Given the description of an element on the screen output the (x, y) to click on. 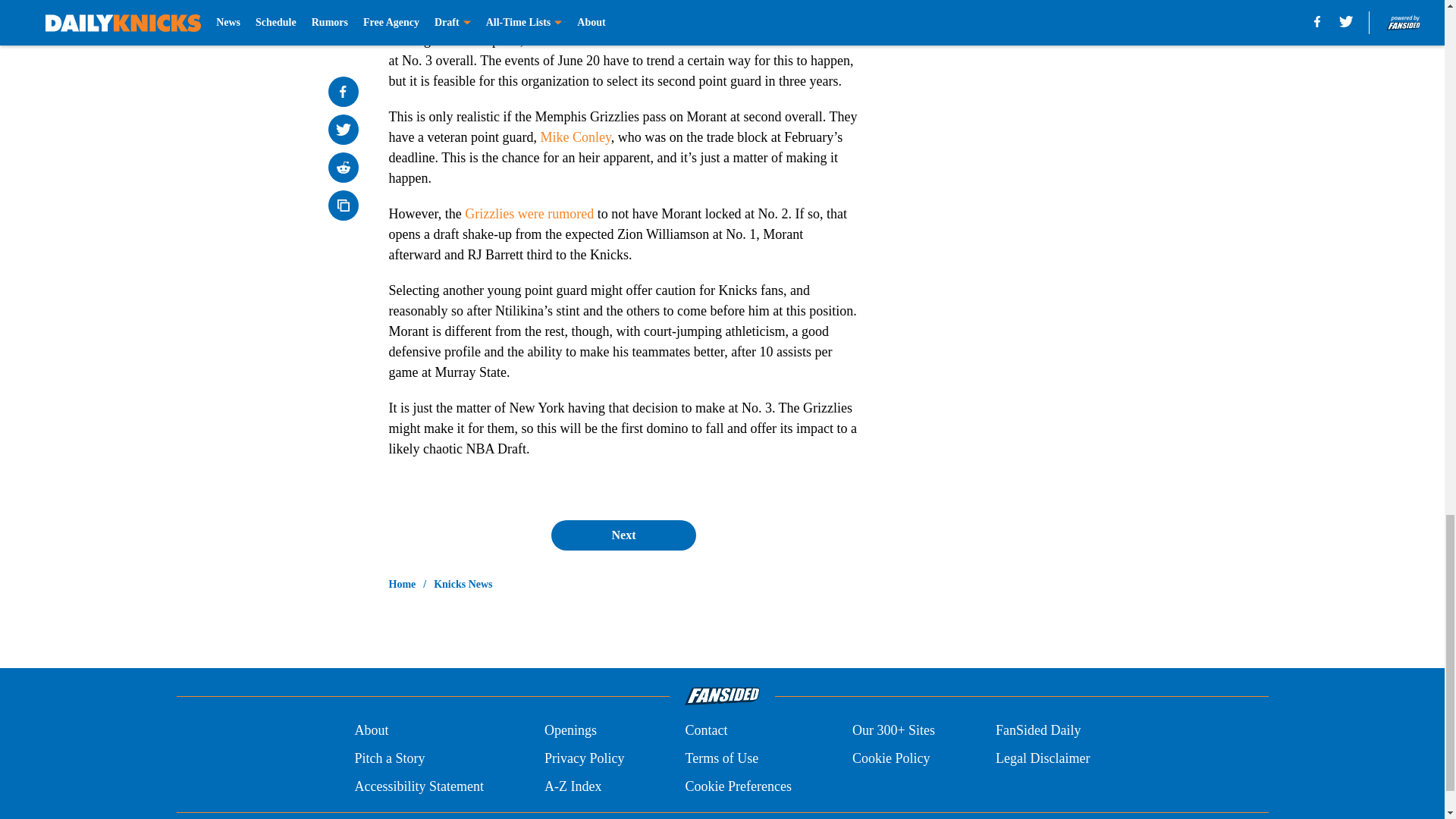
Knicks News (462, 584)
Next (622, 535)
Contact (705, 730)
Mike Conley (575, 136)
Openings (570, 730)
About (370, 730)
Home (401, 584)
FanSided Daily (1038, 730)
Grizzlies were rumored (529, 213)
